Given the description of an element on the screen output the (x, y) to click on. 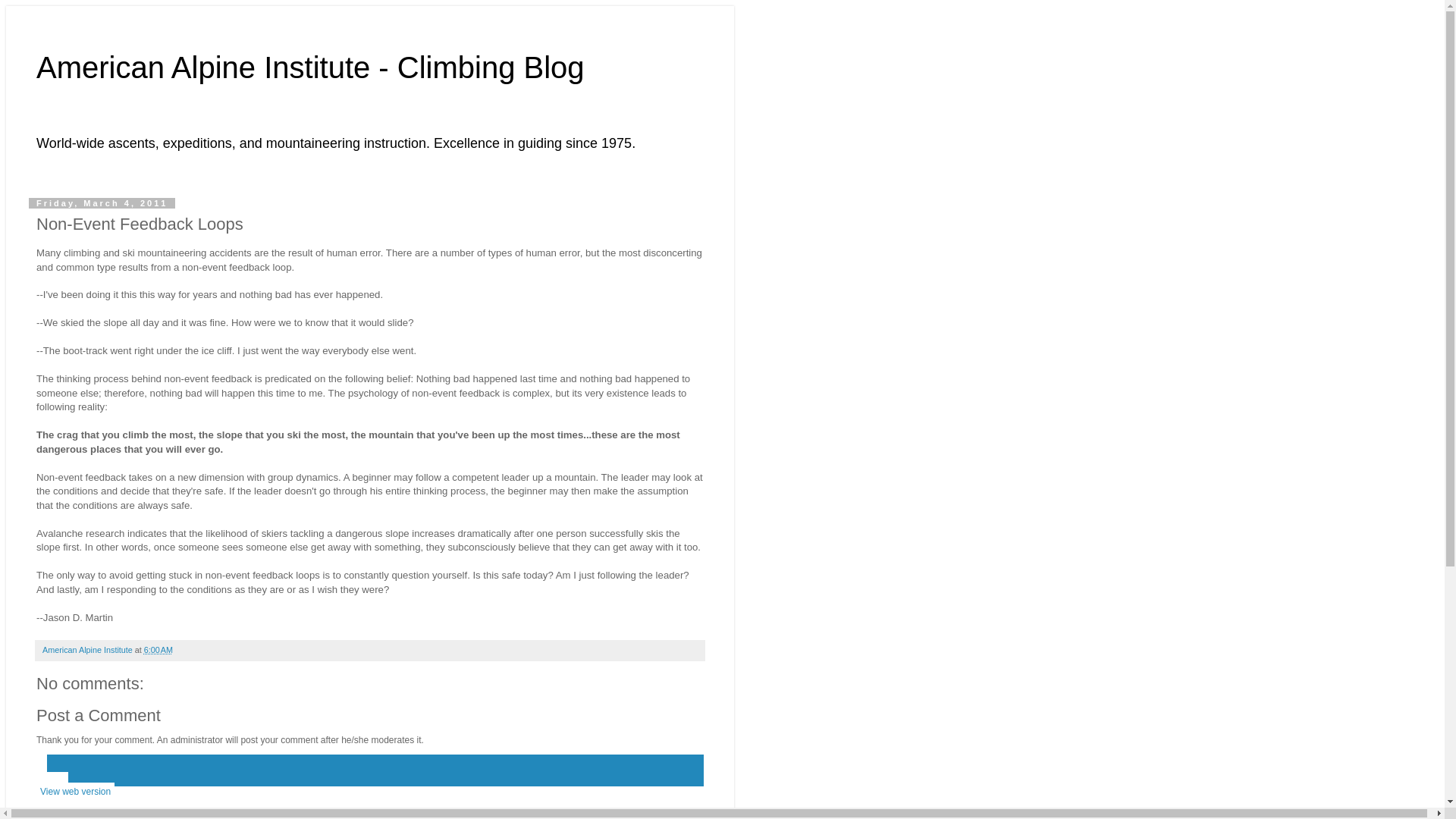
Home (52, 781)
Post a Comment (98, 714)
American Alpine Institute - Climbing Blog (310, 67)
author profile (88, 649)
American Alpine Institute (88, 649)
permanent link (158, 649)
View web version (75, 791)
